Given the description of an element on the screen output the (x, y) to click on. 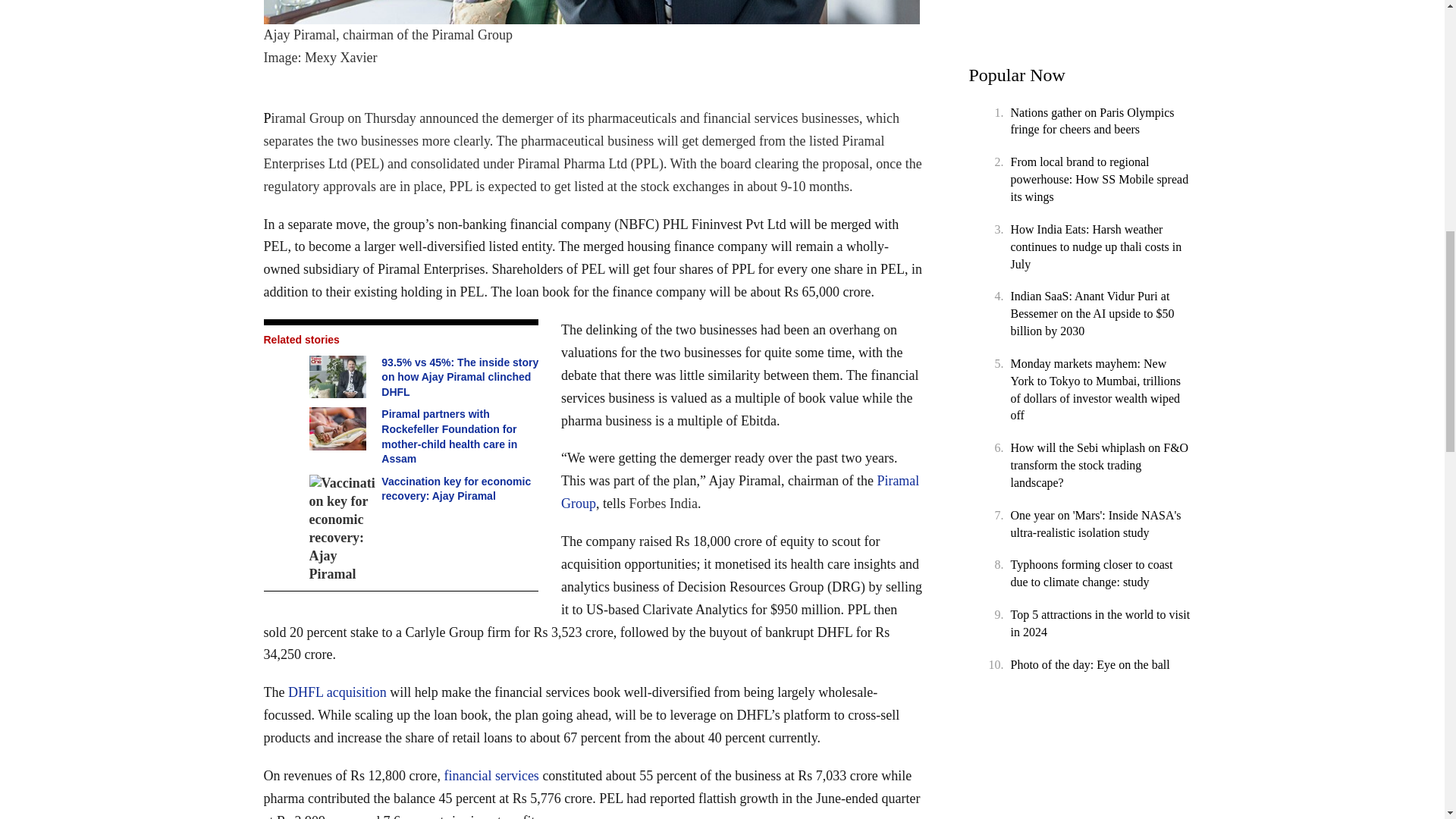
Piramal Group demerges financial services, pharma businesses (593, 12)
